Given the description of an element on the screen output the (x, y) to click on. 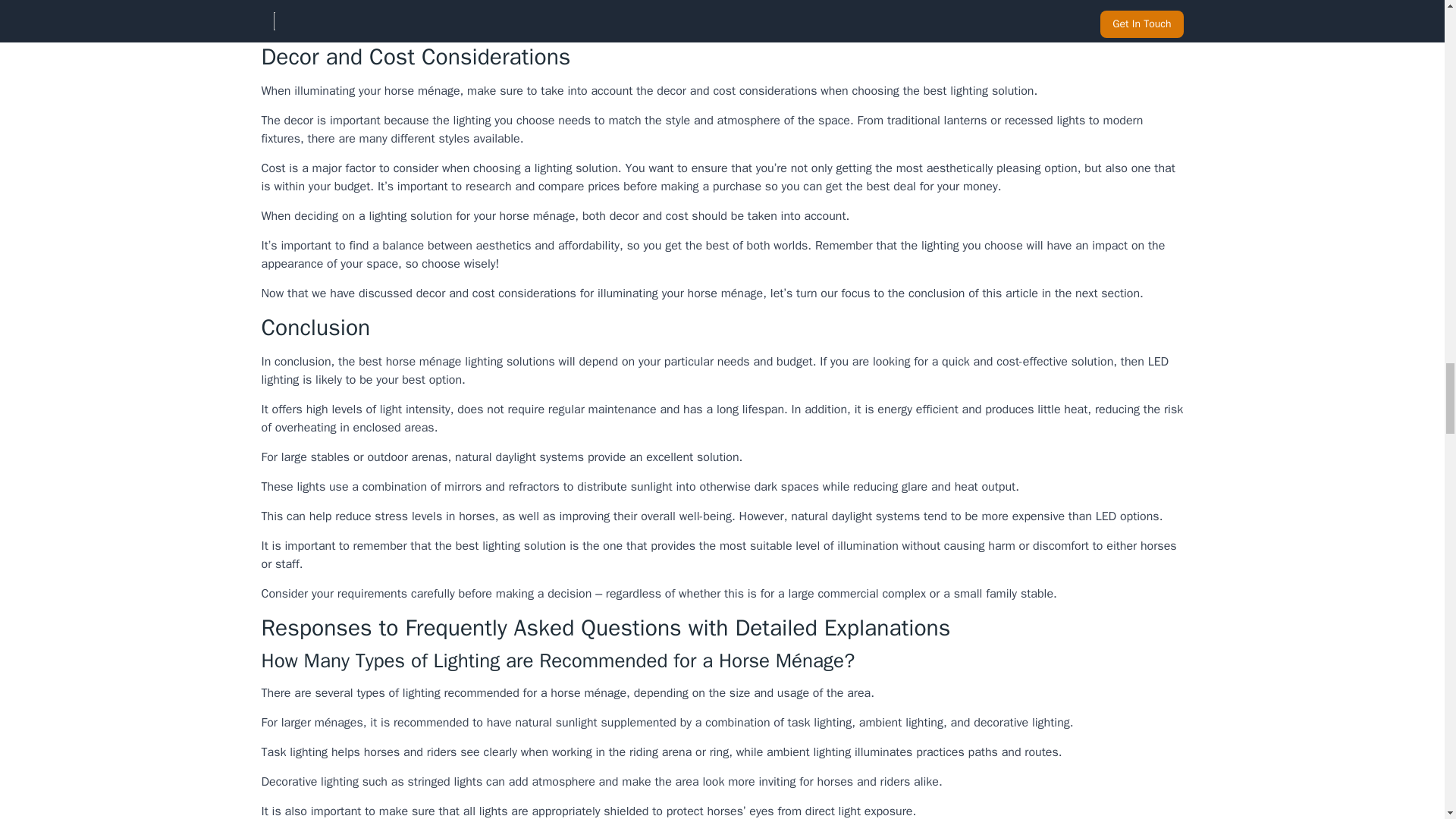
large stables (315, 457)
